Given the description of an element on the screen output the (x, y) to click on. 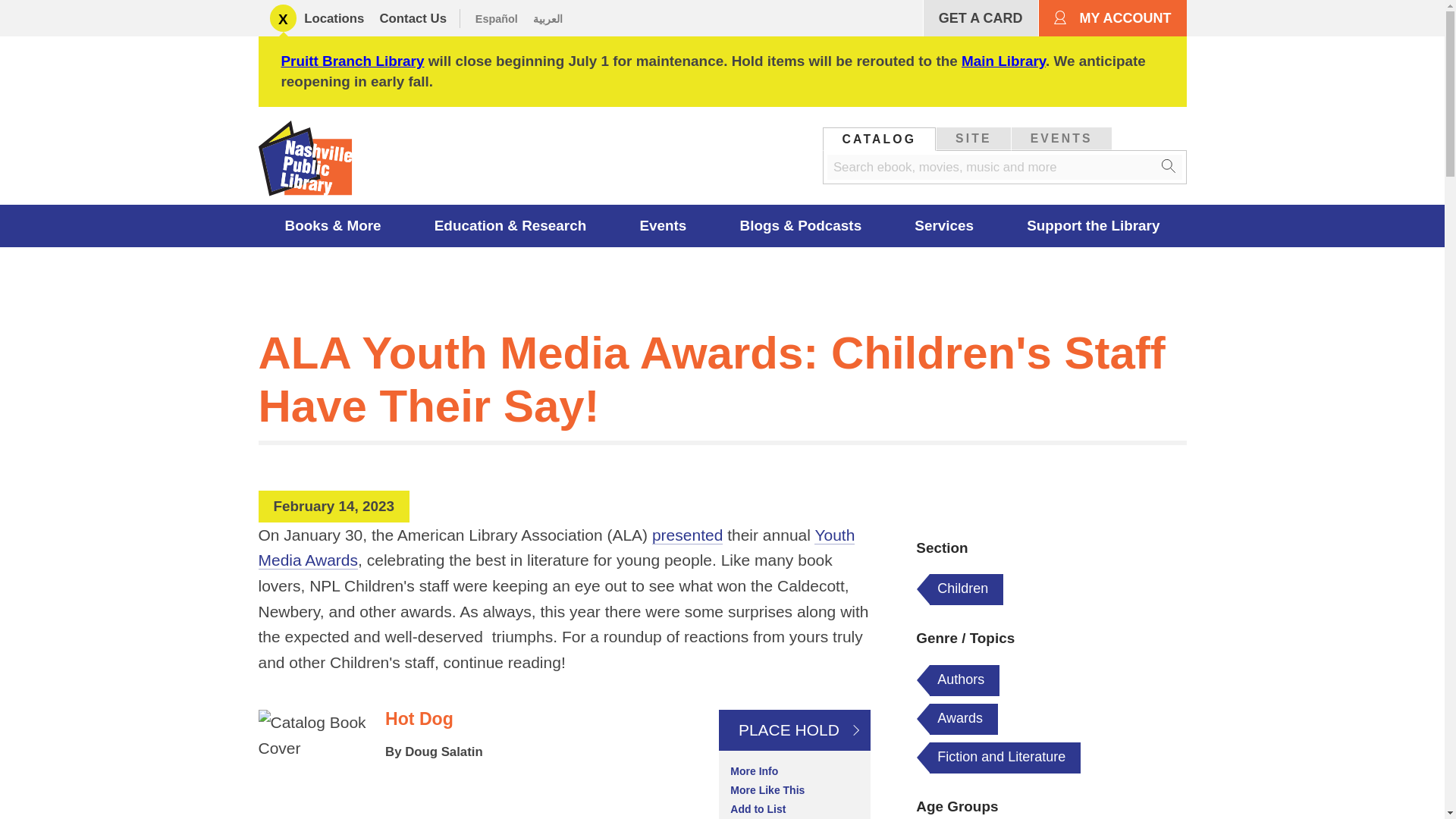
Pruitt Branch Library (352, 60)
SITE (973, 138)
Main Library (1002, 60)
CATALOG (880, 138)
Locations (334, 18)
Contact Us (412, 18)
Home (309, 161)
Toggle alerts (283, 17)
EVENTS (1061, 138)
Search (1168, 166)
MY ACCOUNT (1112, 18)
Events (662, 226)
Search (1168, 166)
GET A CARD (980, 18)
